Given the description of an element on the screen output the (x, y) to click on. 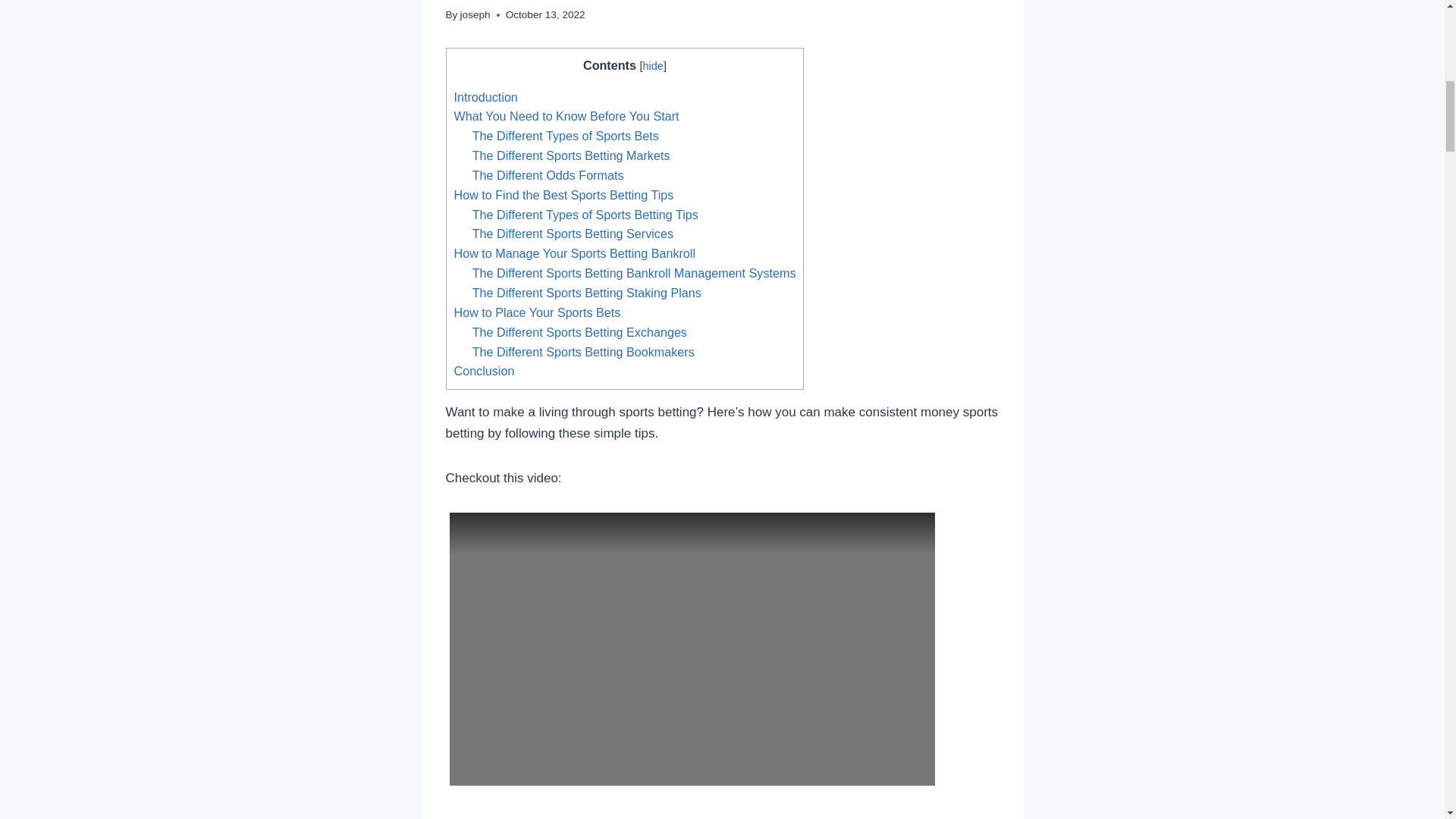
The Different Types of Sports Betting Tips (584, 214)
The Different Sports Betting Bankroll Management Systems (633, 273)
The Different Odds Formats (547, 174)
joseph (475, 14)
The Different Sports Betting Staking Plans (586, 292)
The Different Sports Betting Bookmakers (582, 351)
Introduction (484, 97)
The Different Sports Betting Services (571, 233)
How to Manage Your Sports Betting Bankroll (573, 253)
The Different Sports Betting Markets (570, 155)
How to Find the Best Sports Betting Tips (562, 194)
The Different Types of Sports Bets (565, 135)
The Different Sports Betting Exchanges (579, 332)
hide (652, 65)
How to Place Your Sports Bets (536, 312)
